Given the description of an element on the screen output the (x, y) to click on. 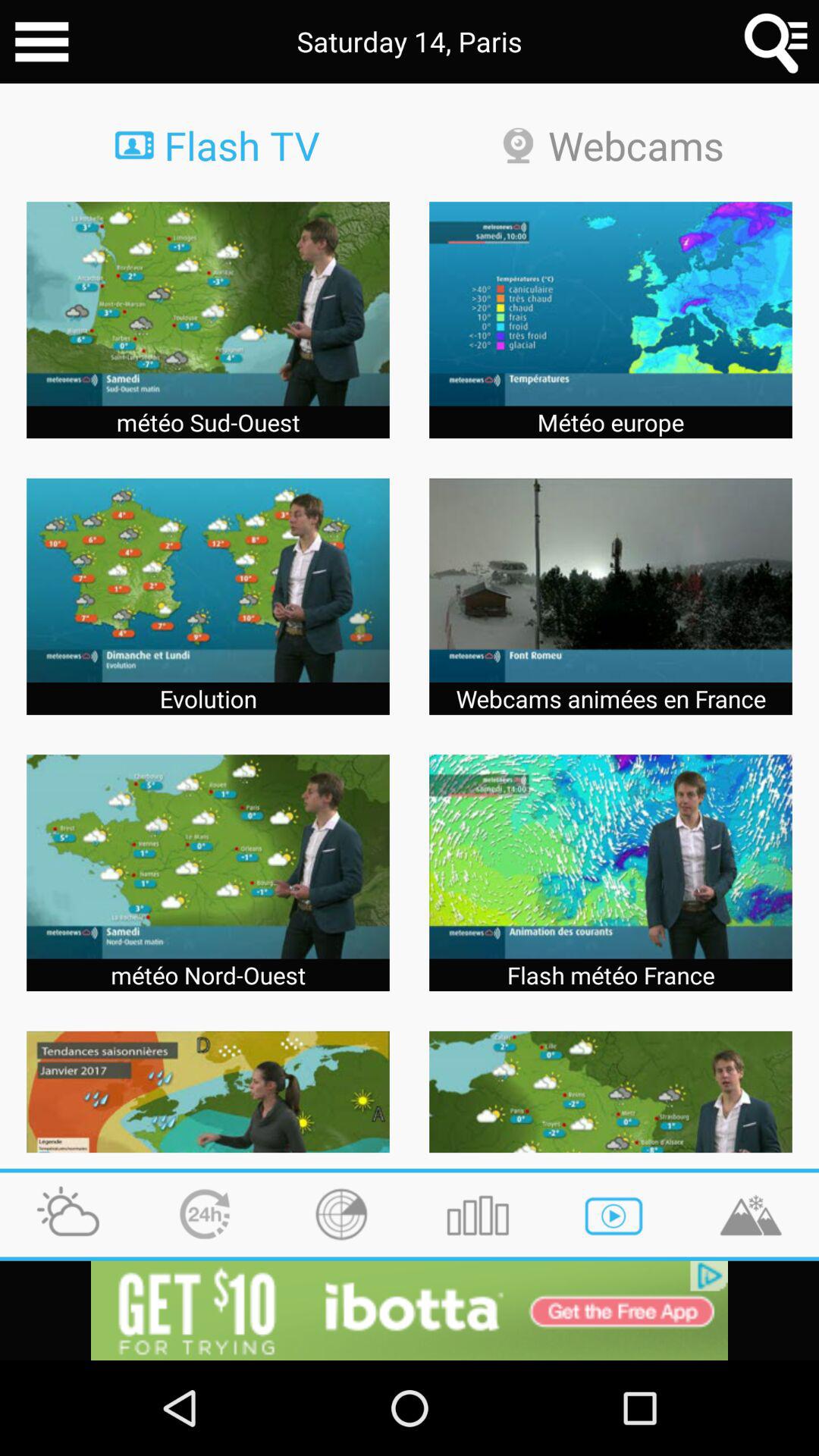
click on the image first row first column (207, 304)
go to play icon at the bottom row (614, 1214)
select the symbol which right to cloud symbol (204, 1214)
click on the image above the text flash meteo france (610, 856)
click on the image above the text webcams animees en france (610, 580)
select the icon which is at bottom right side of the page (750, 1214)
